Given the description of an element on the screen output the (x, y) to click on. 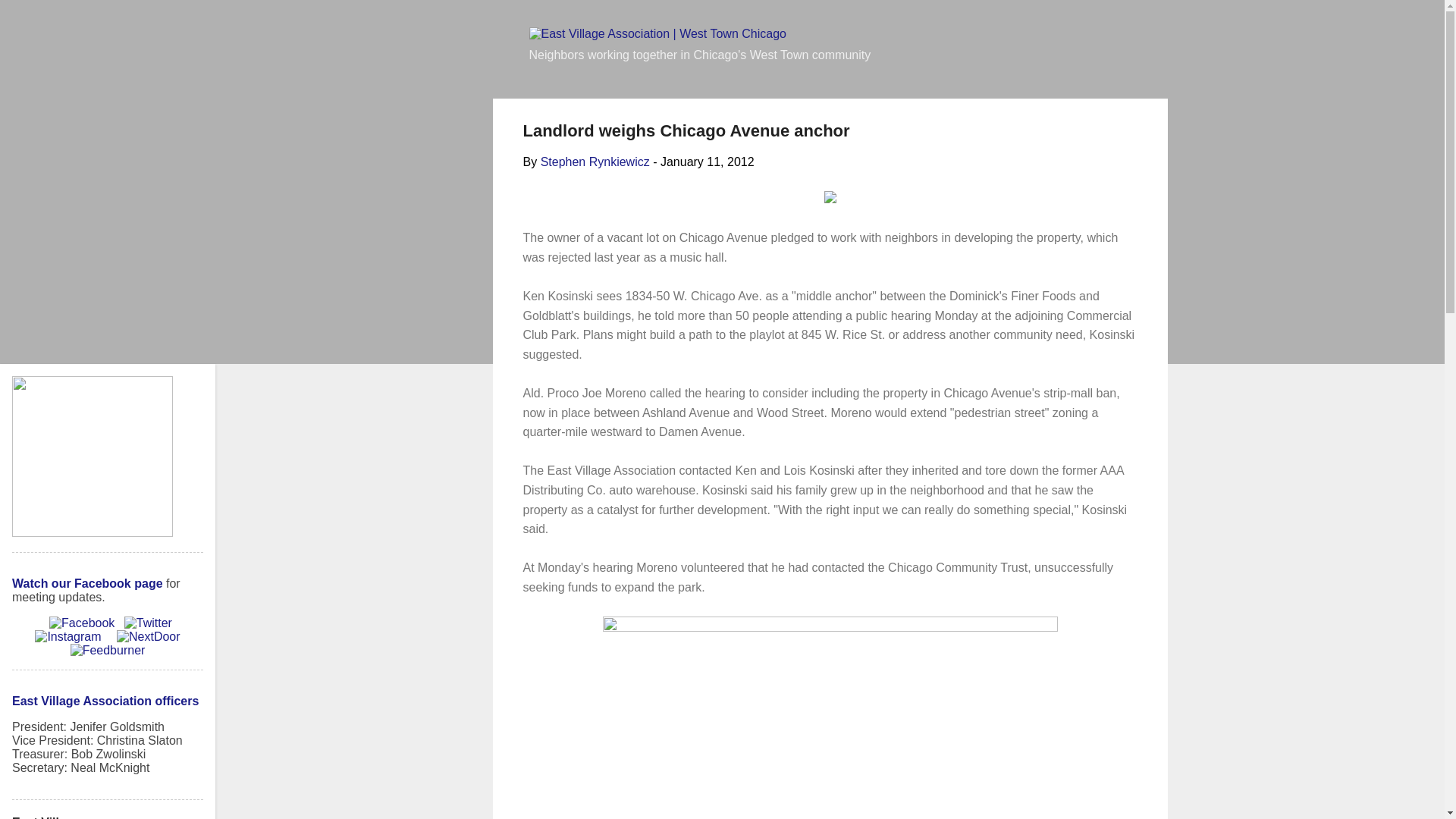
Stephen Rynkiewicz (594, 161)
Search (32, 18)
permanent link (707, 161)
Watch our Facebook page (87, 583)
January 11, 2012 (707, 161)
author profile (594, 161)
